Given the description of an element on the screen output the (x, y) to click on. 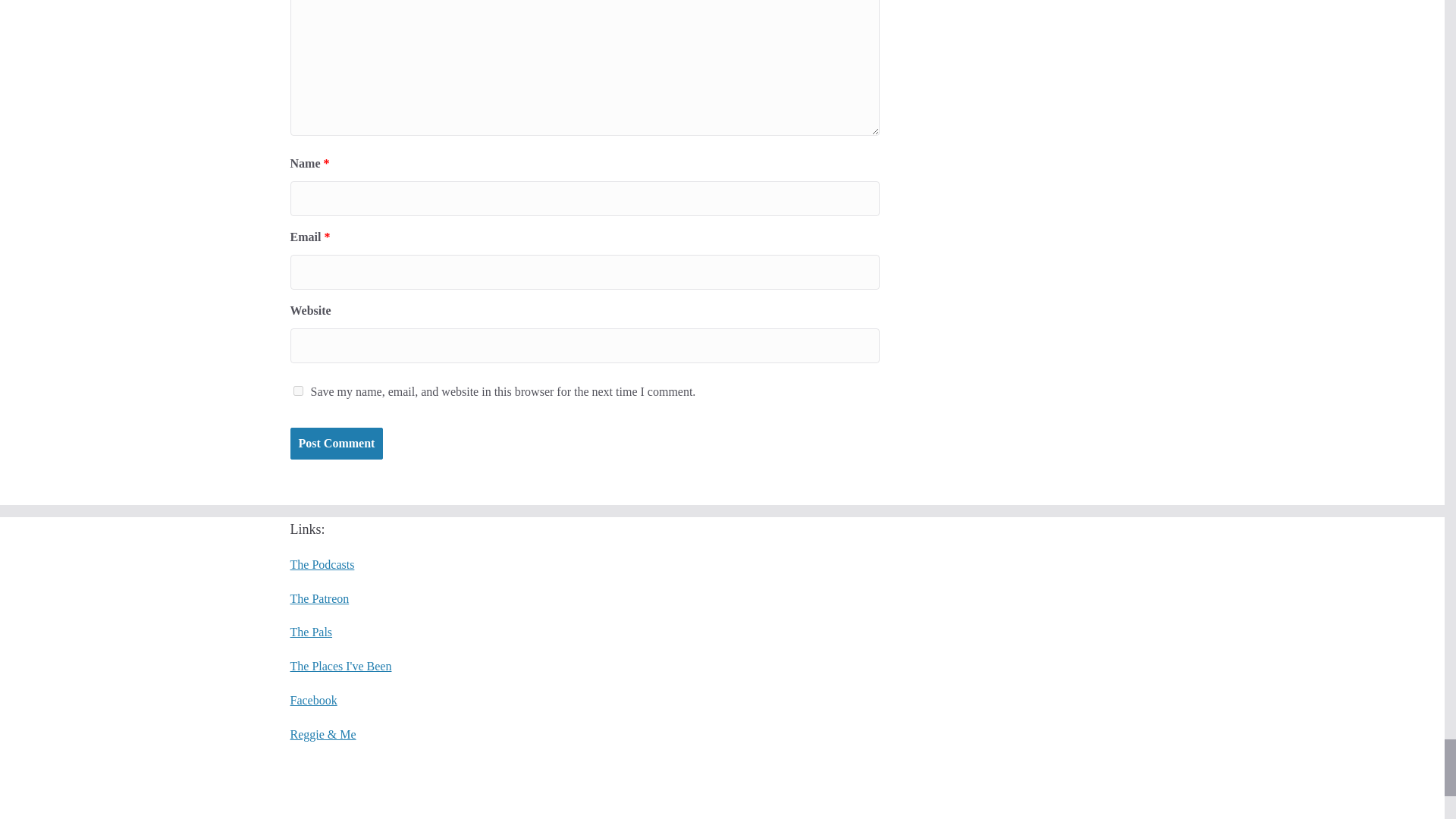
yes (297, 390)
Post Comment (335, 443)
